Given the description of an element on the screen output the (x, y) to click on. 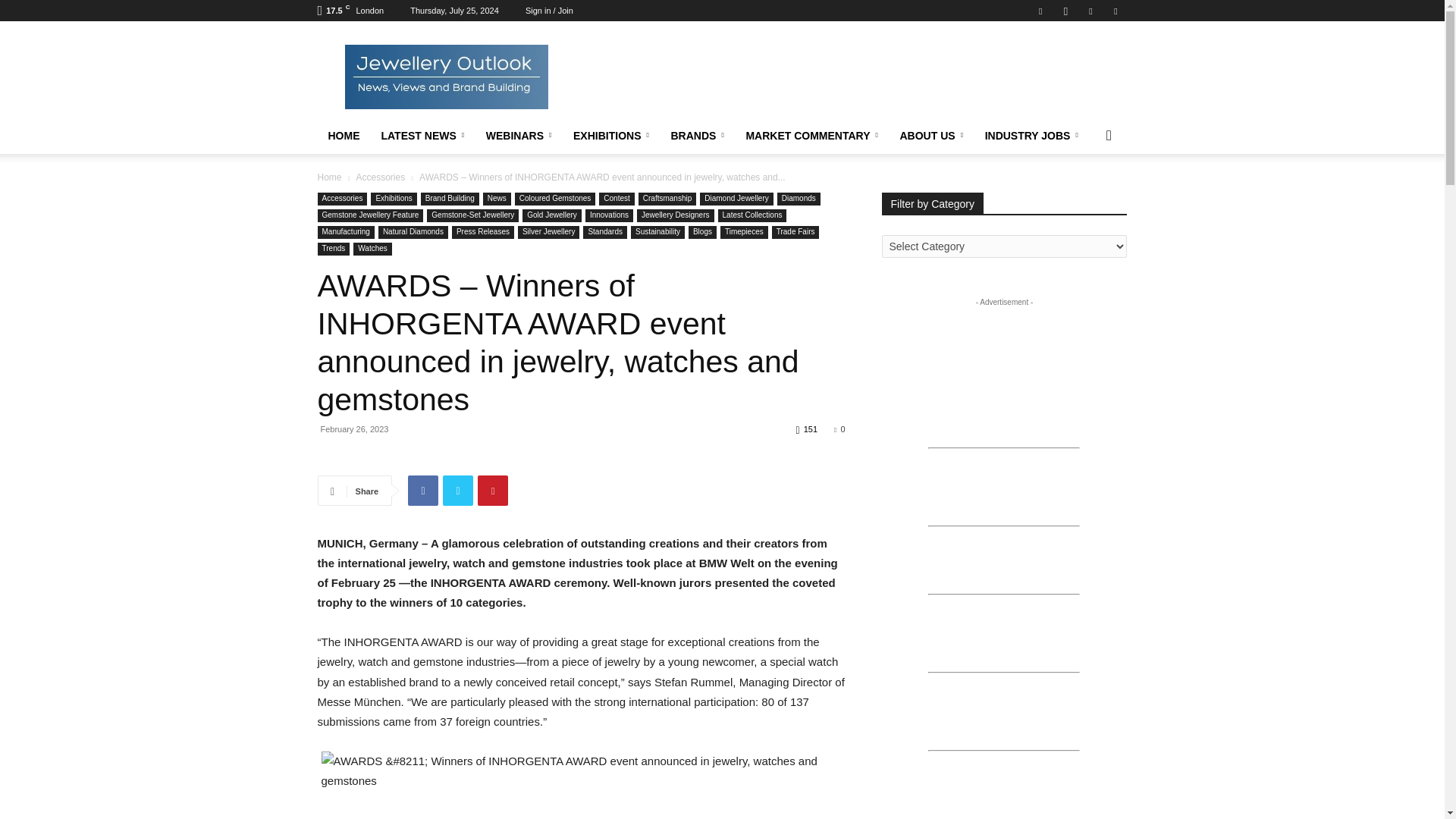
Instagram (1065, 10)
Facebook (1040, 10)
Jewellery Outlook (445, 76)
Youtube (1114, 10)
Twitter (1090, 10)
